Given the description of an element on the screen output the (x, y) to click on. 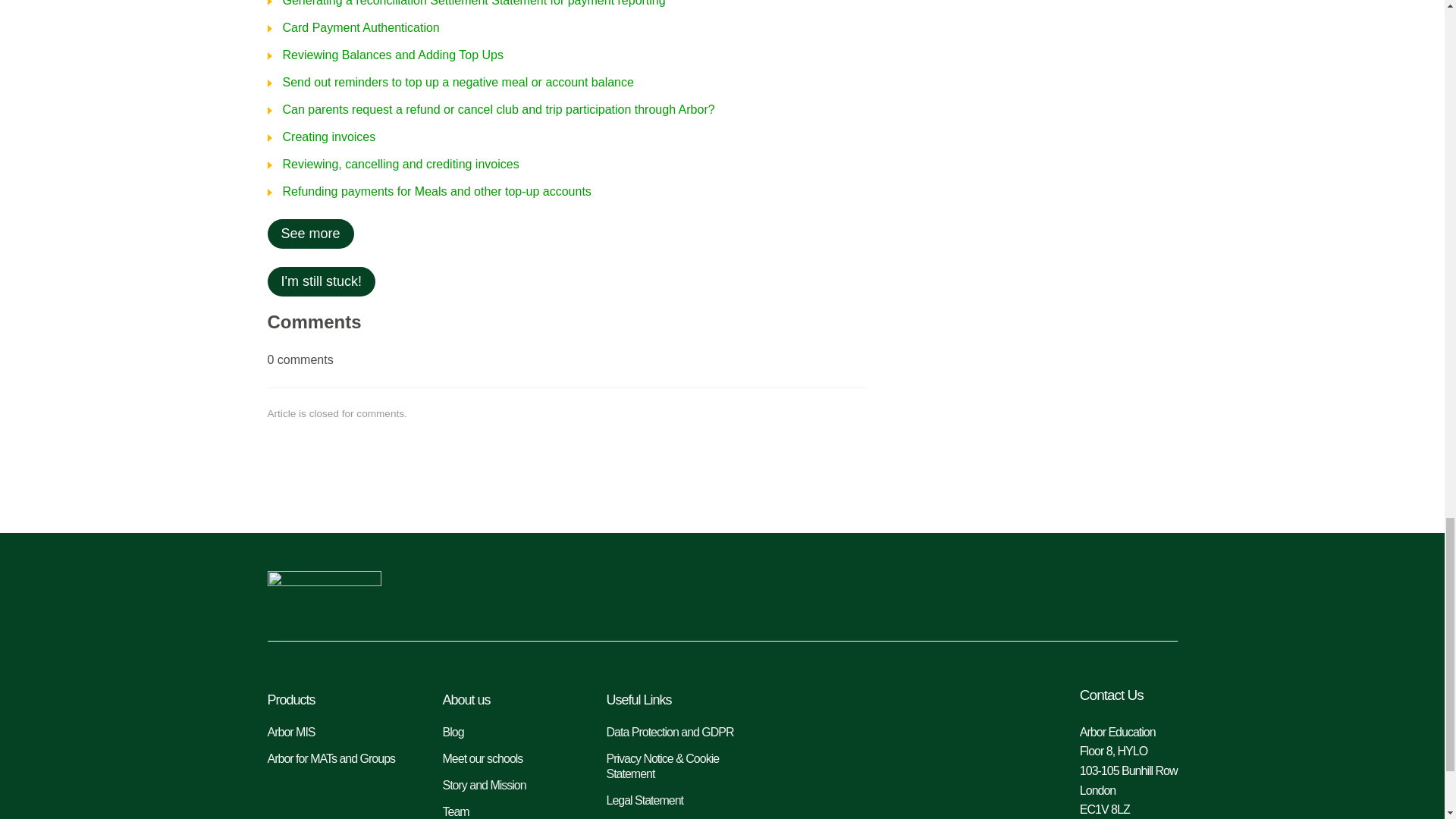
See more (309, 233)
Arbor for MATs and Groups (339, 758)
Refunding payments for Meals and other top-up accounts (428, 192)
Linkedin (1061, 591)
Reviewing, cancelling and crediting invoices (392, 164)
About us (509, 699)
Card Payment Authentication (352, 28)
